Given the description of an element on the screen output the (x, y) to click on. 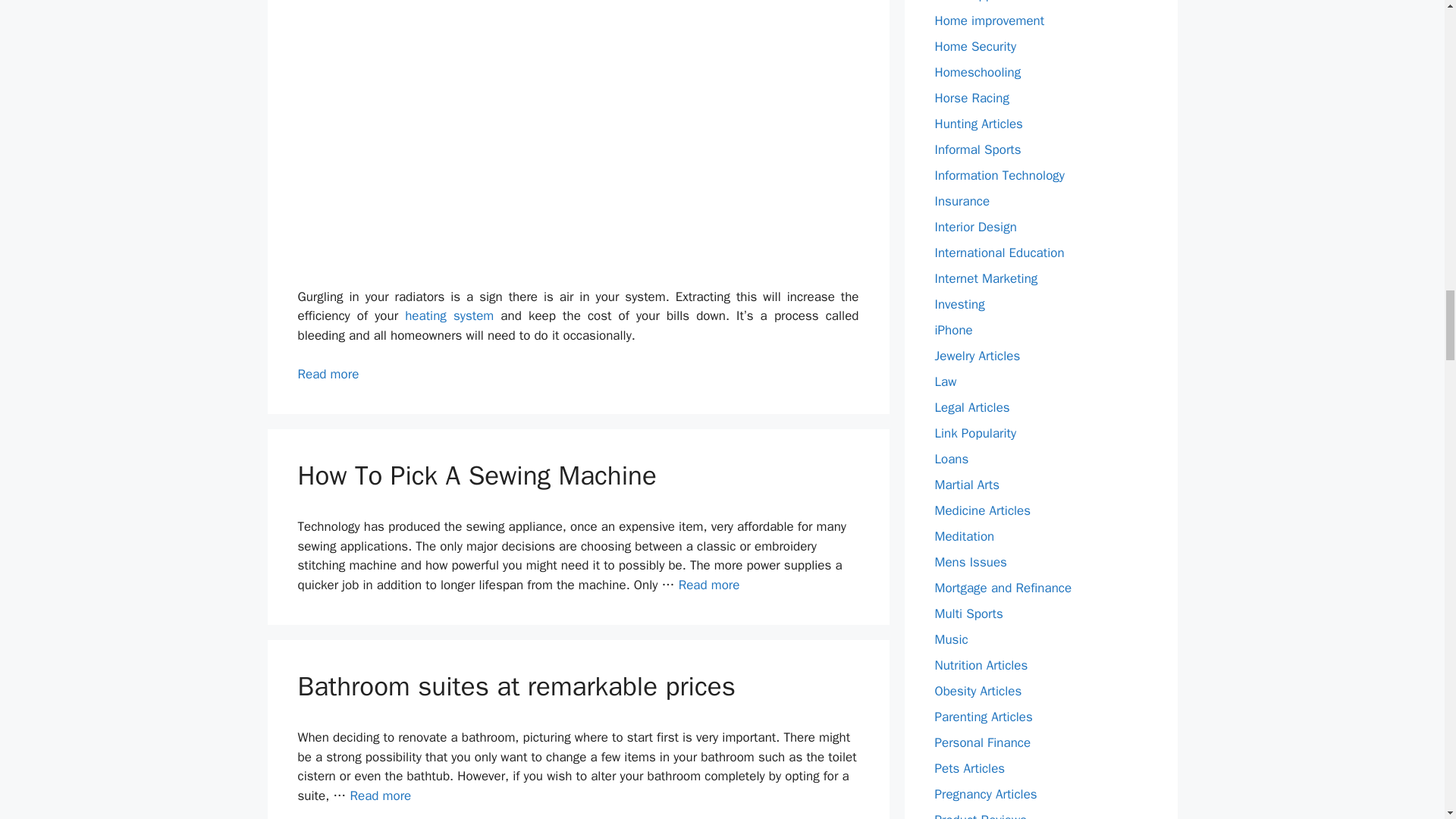
Bathroom suites at remarkable prices (379, 795)
How To Bleed Radiators To Make Them More Efficient (327, 374)
How To Pick A Sewing Machine (708, 584)
